Given the description of an element on the screen output the (x, y) to click on. 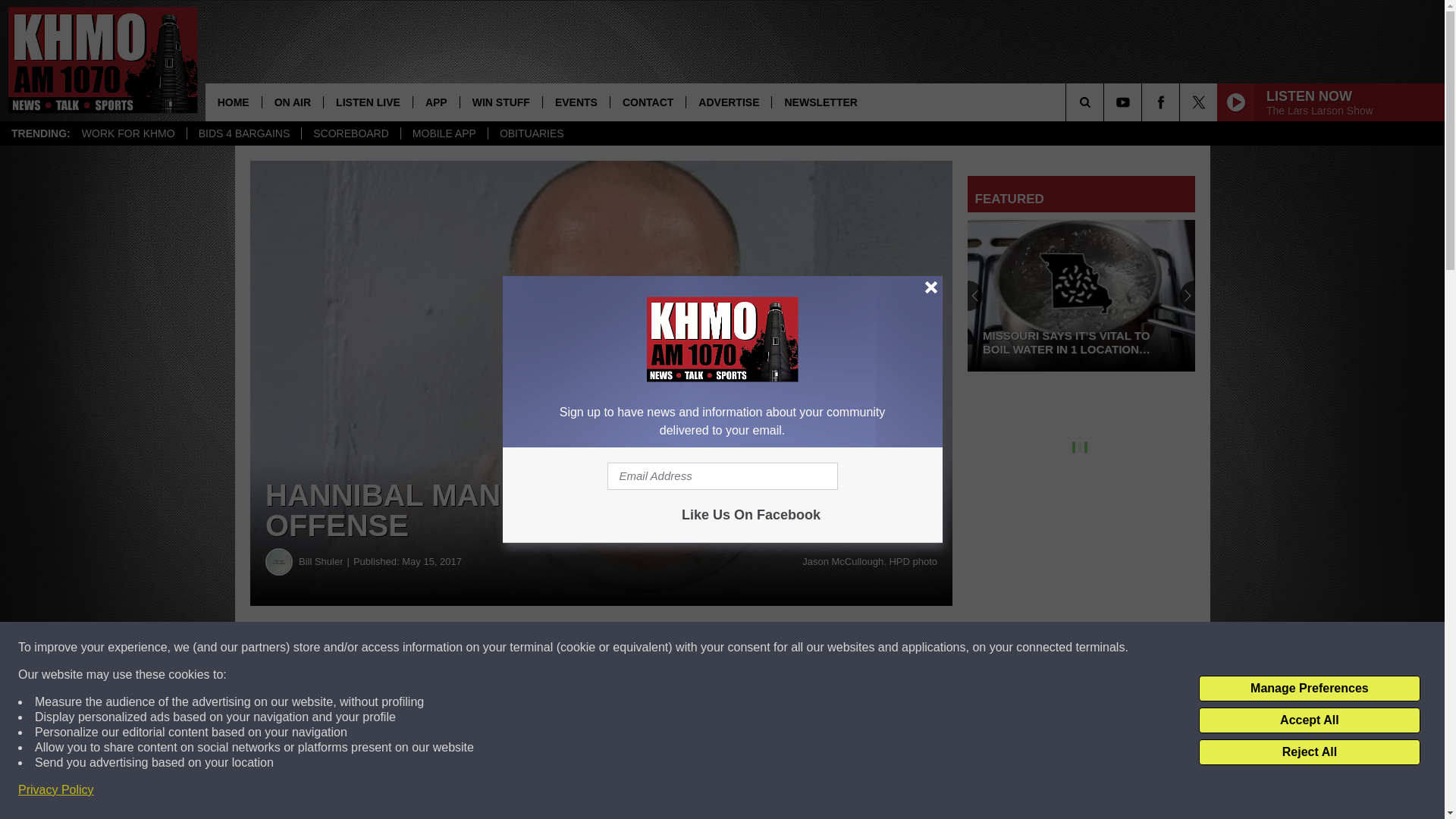
OBITUARIES (531, 133)
Privacy Policy (55, 789)
NEWSLETTER (820, 102)
BIDS 4 BARGAINS (243, 133)
ADVERTISE (728, 102)
ON AIR (292, 102)
HOME (233, 102)
Reject All (1309, 751)
Share on Twitter (741, 647)
MOBILE APP (443, 133)
SCOREBOARD (350, 133)
WORK FOR KHMO (127, 133)
CONTACT (647, 102)
Manage Preferences (1309, 688)
Accept All (1309, 720)
